Given the description of an element on the screen output the (x, y) to click on. 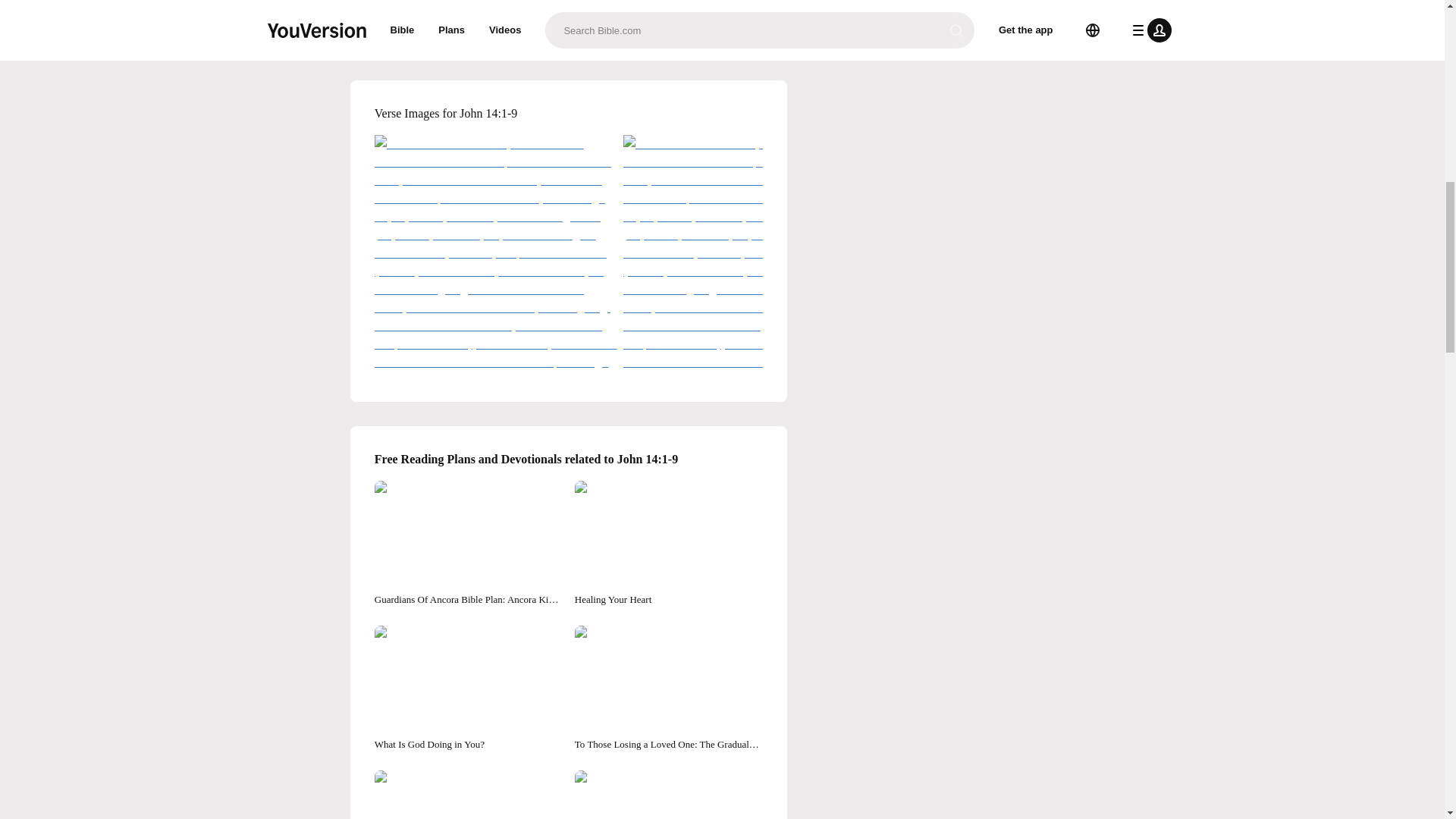
The Glory of Heaven (468, 794)
Verse Images for John 14:1-9 (568, 113)
To Those Losing a Loved One: The Gradual Goodbye (668, 688)
What Is God Doing in You? (468, 688)
WORTHY ONE (668, 794)
Healing Your Heart (668, 543)
Compare All Versions: John 14:1-9 (568, 22)
